Given the description of an element on the screen output the (x, y) to click on. 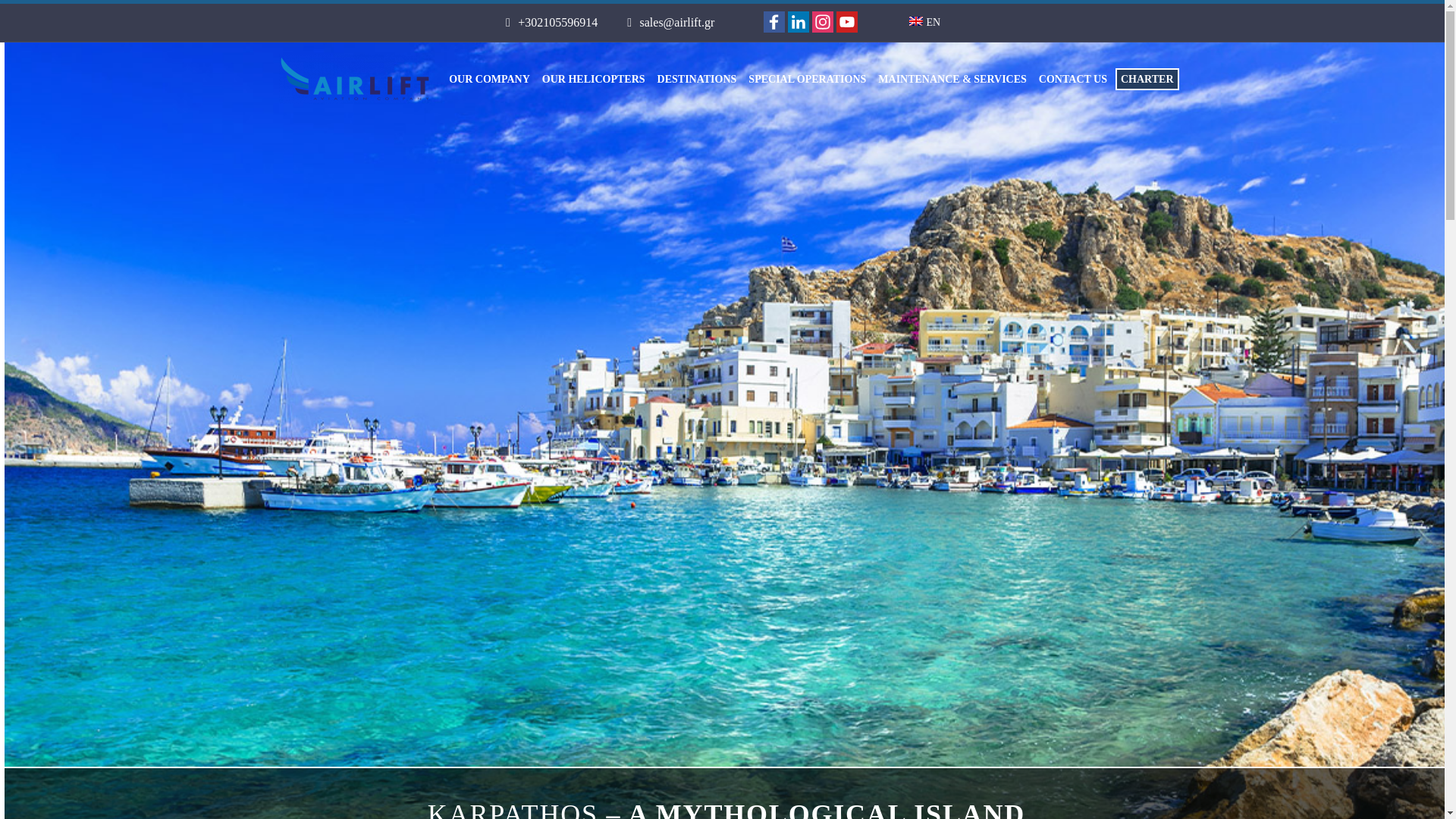
SPECIAL OPERATIONS (806, 78)
instagram (823, 28)
get-a-quote (1147, 78)
DESTINATIONS (697, 78)
CHARTER (1147, 78)
YouTube (846, 28)
facebook (774, 28)
OUR COMPANY (489, 78)
Facebook (773, 21)
YouTube (846, 21)
EN (924, 22)
Instagram (823, 28)
linkedin (799, 28)
OUR HELICOPTERS (593, 78)
LinkedIn (798, 21)
